Given the description of an element on the screen output the (x, y) to click on. 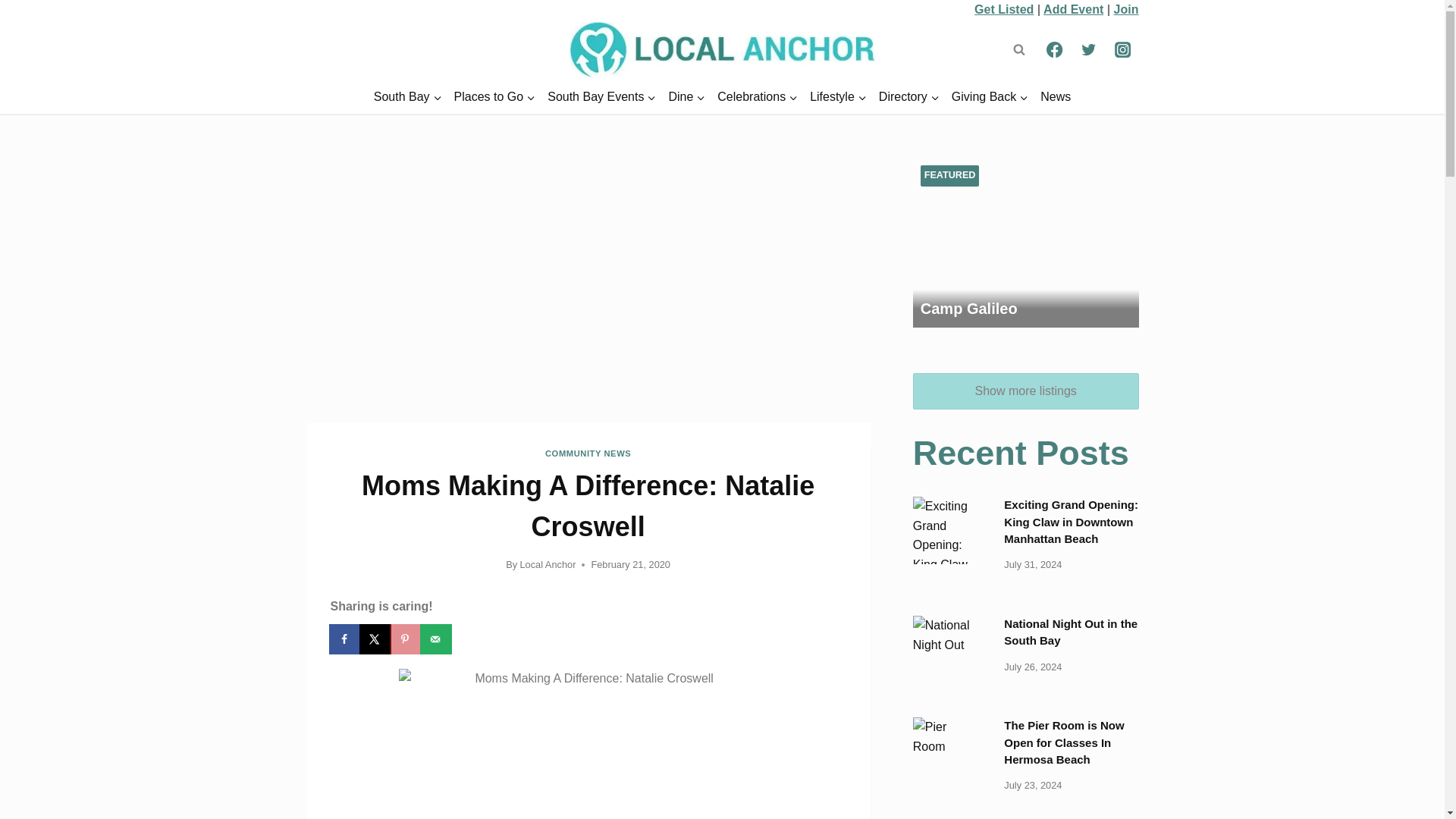
South Bay Events (601, 97)
Share on Facebook (345, 639)
Places to Go (494, 97)
Celebrations (757, 97)
South Bay (408, 97)
Dine (686, 97)
Join (1125, 9)
Moms Making A Difference: Natalie Croswell 1 (587, 744)
Share on X (376, 639)
Save to Pinterest (406, 639)
